Given the description of an element on the screen output the (x, y) to click on. 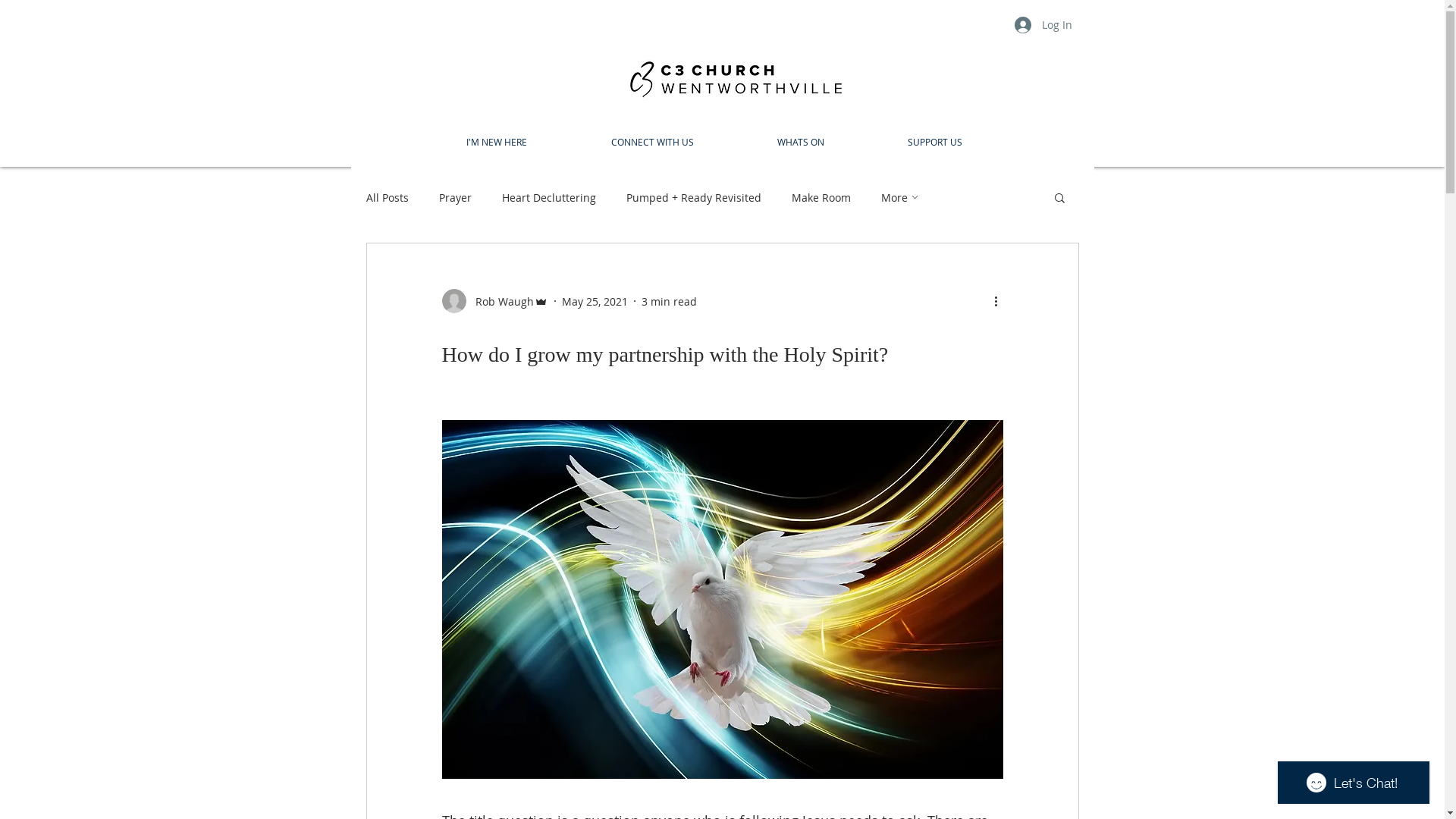
SUPPORT US Element type: text (935, 142)
All Posts Element type: text (386, 196)
CONNECT WITH US Element type: text (651, 142)
Make Room Element type: text (820, 196)
Prayer Element type: text (454, 196)
Pumped + Ready Revisited Element type: text (693, 196)
Log In Element type: text (1043, 24)
I'M NEW HERE Element type: text (496, 142)
Heart Decluttering Element type: text (549, 196)
Rob Waugh Element type: text (494, 300)
WHATS ON Element type: text (800, 142)
